Given the description of an element on the screen output the (x, y) to click on. 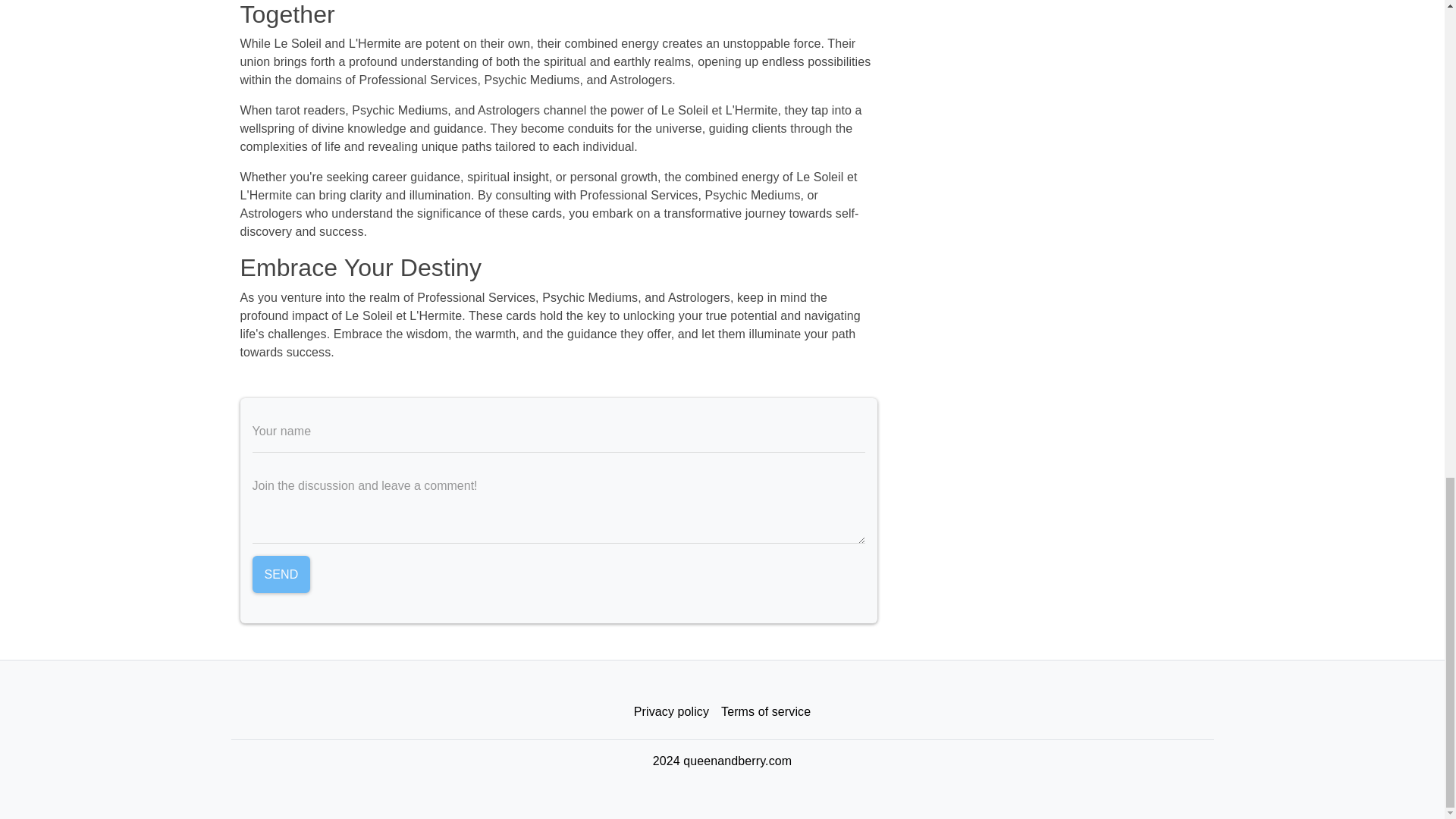
Send (280, 574)
Terms of service (765, 711)
Privacy policy (670, 711)
Send (280, 574)
